Given the description of an element on the screen output the (x, y) to click on. 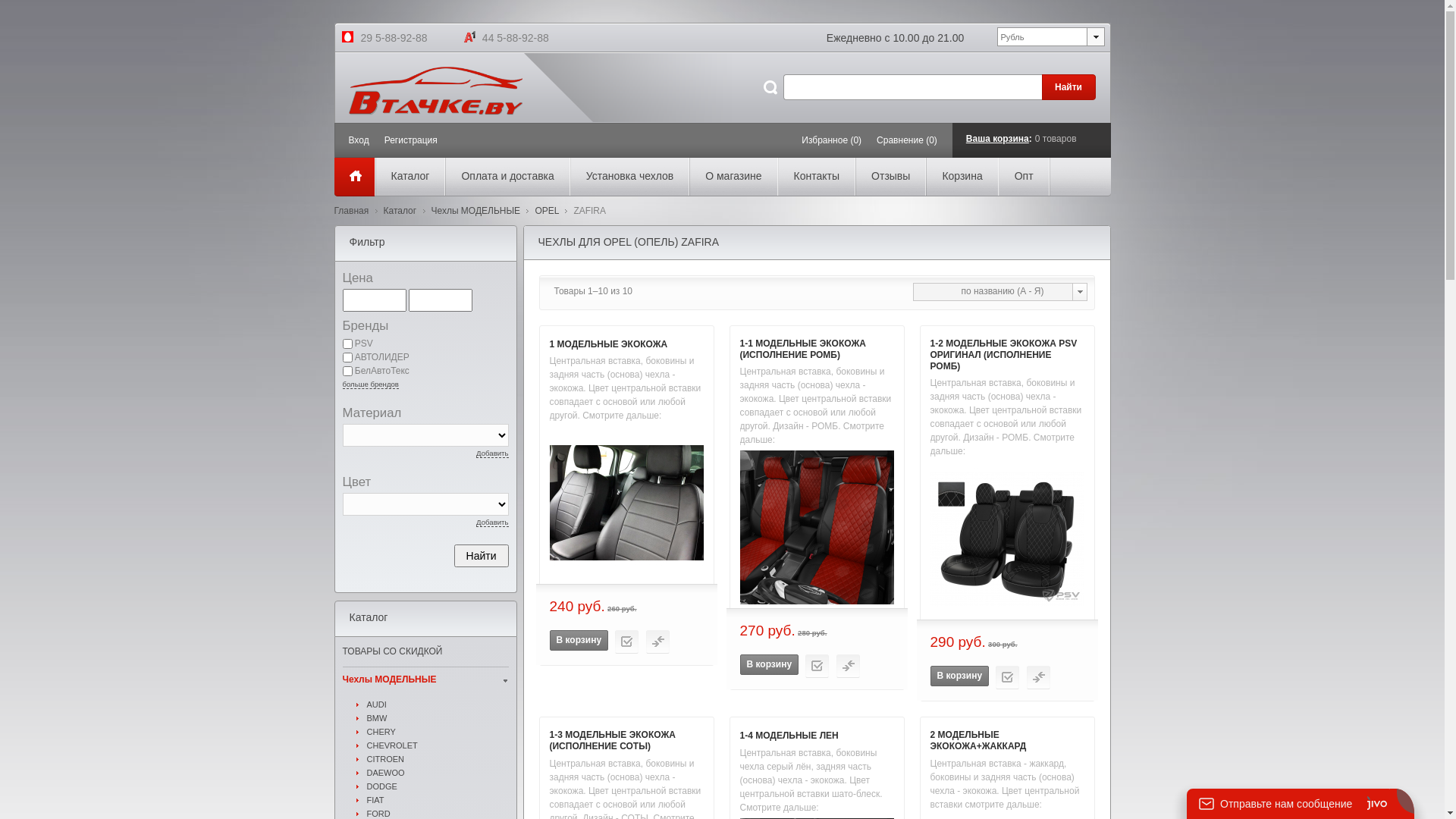
DAEWOO Element type: text (437, 772)
OPEL Element type: text (546, 210)
DODGE Element type: text (437, 786)
BMW Element type: text (437, 717)
CITROEN Element type: text (437, 758)
AUDI Element type: text (437, 704)
FIAT Element type: text (437, 799)
CHEVROLET Element type: text (437, 745)
CHERY Element type: text (437, 731)
